Given the description of an element on the screen output the (x, y) to click on. 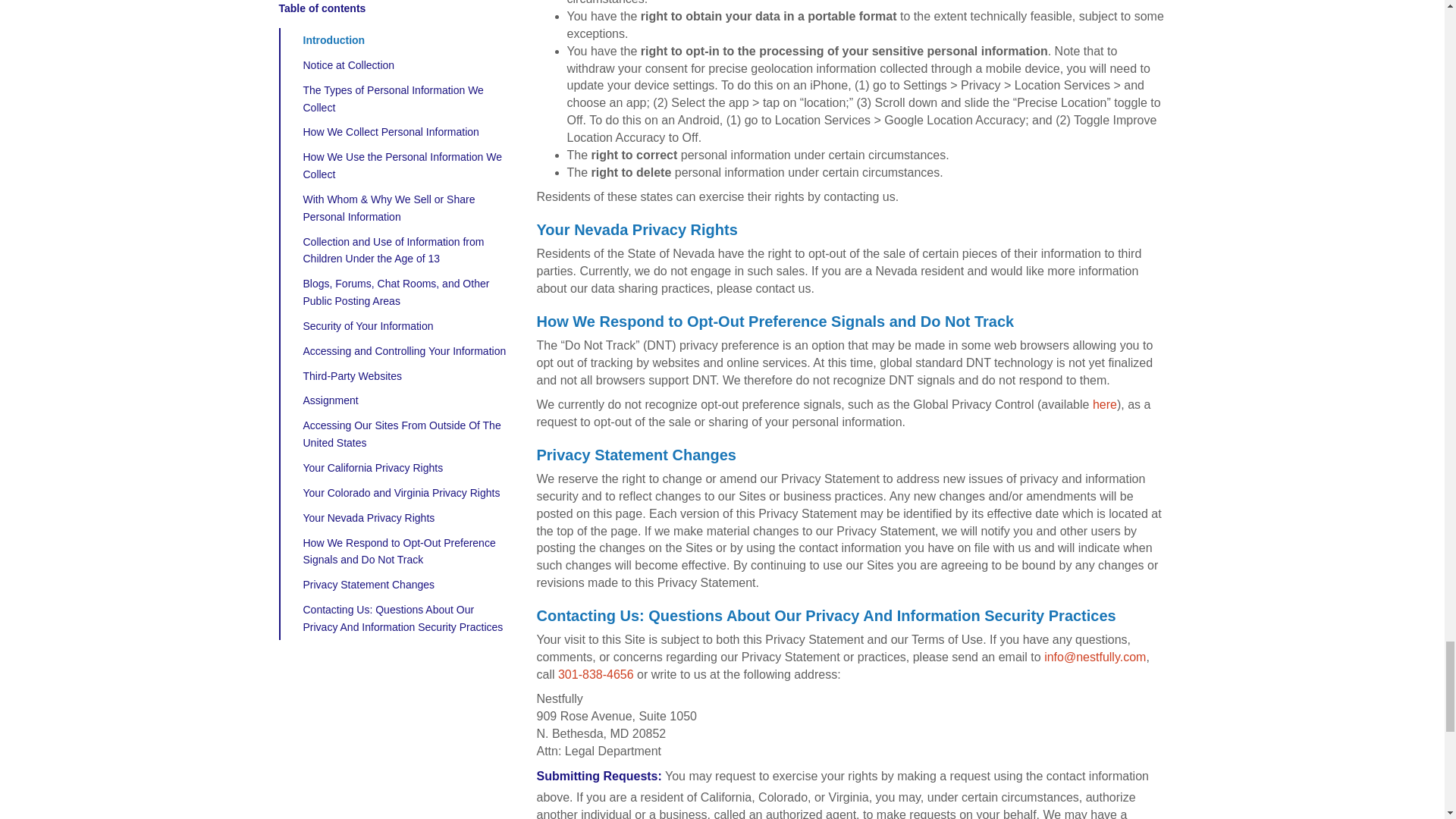
here (1104, 404)
